Given the description of an element on the screen output the (x, y) to click on. 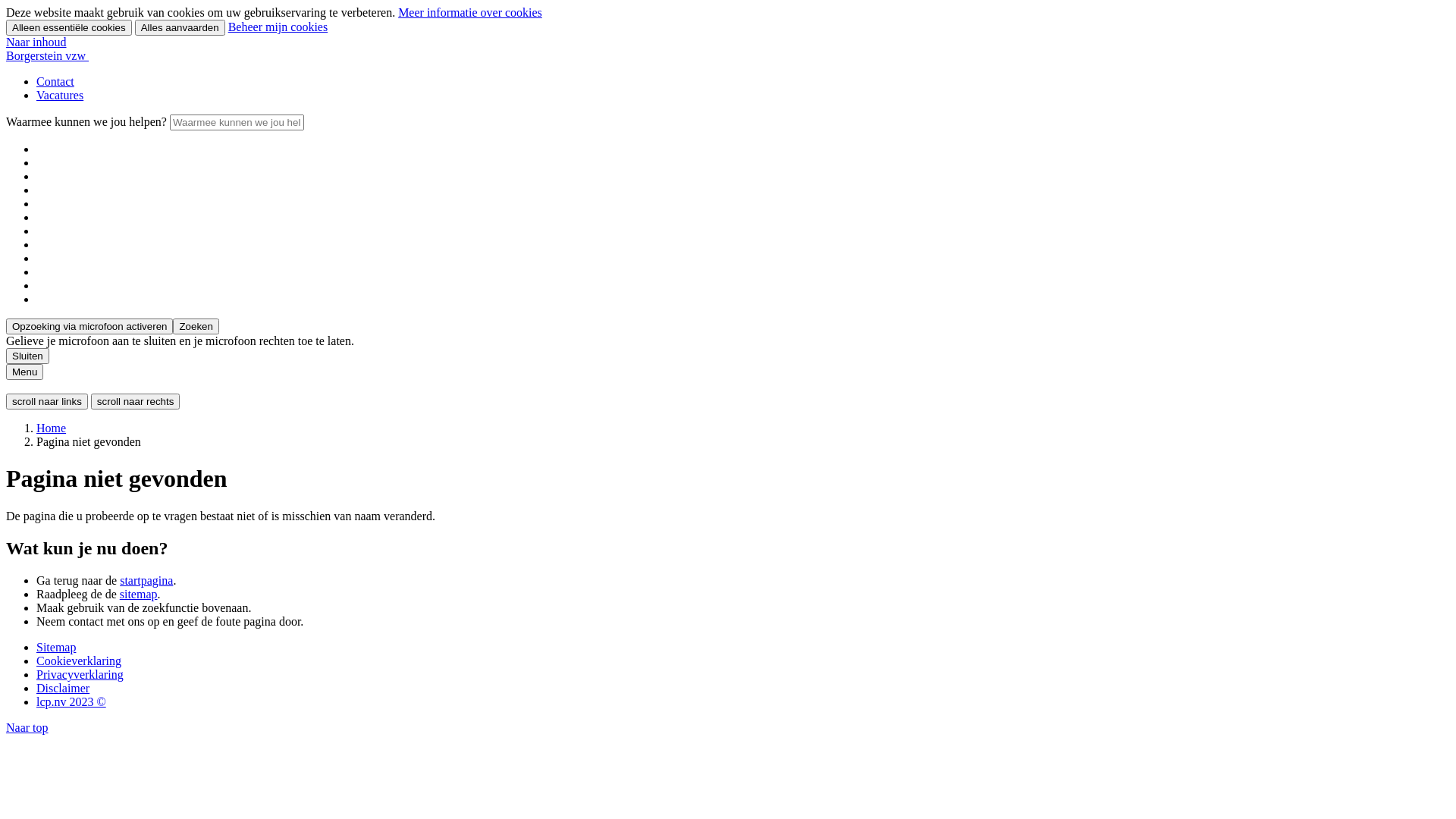
scroll naar rechts Element type: text (135, 401)
Sluiten Element type: text (27, 356)
Alles aanvaarden Element type: text (179, 27)
Home Element type: text (50, 427)
Naar top Element type: text (27, 727)
Beheer mijn cookies Element type: text (278, 26)
Opzoeking via microfoon activeren Element type: text (89, 326)
Cookieverklaring Element type: text (78, 660)
Meer informatie over cookies Element type: text (470, 12)
Menu Element type: text (24, 371)
Zoeken Element type: text (195, 326)
startpagina Element type: text (145, 580)
sitemap Element type: text (138, 593)
Disclaimer Element type: text (62, 687)
Borgerstein vzw Element type: text (47, 55)
Privacyverklaring Element type: text (79, 674)
Contact Element type: text (55, 81)
Vacatures Element type: text (59, 94)
Sitemap Element type: text (55, 646)
Naar inhoud Element type: text (36, 41)
scroll naar links Element type: text (46, 401)
